Given the description of an element on the screen output the (x, y) to click on. 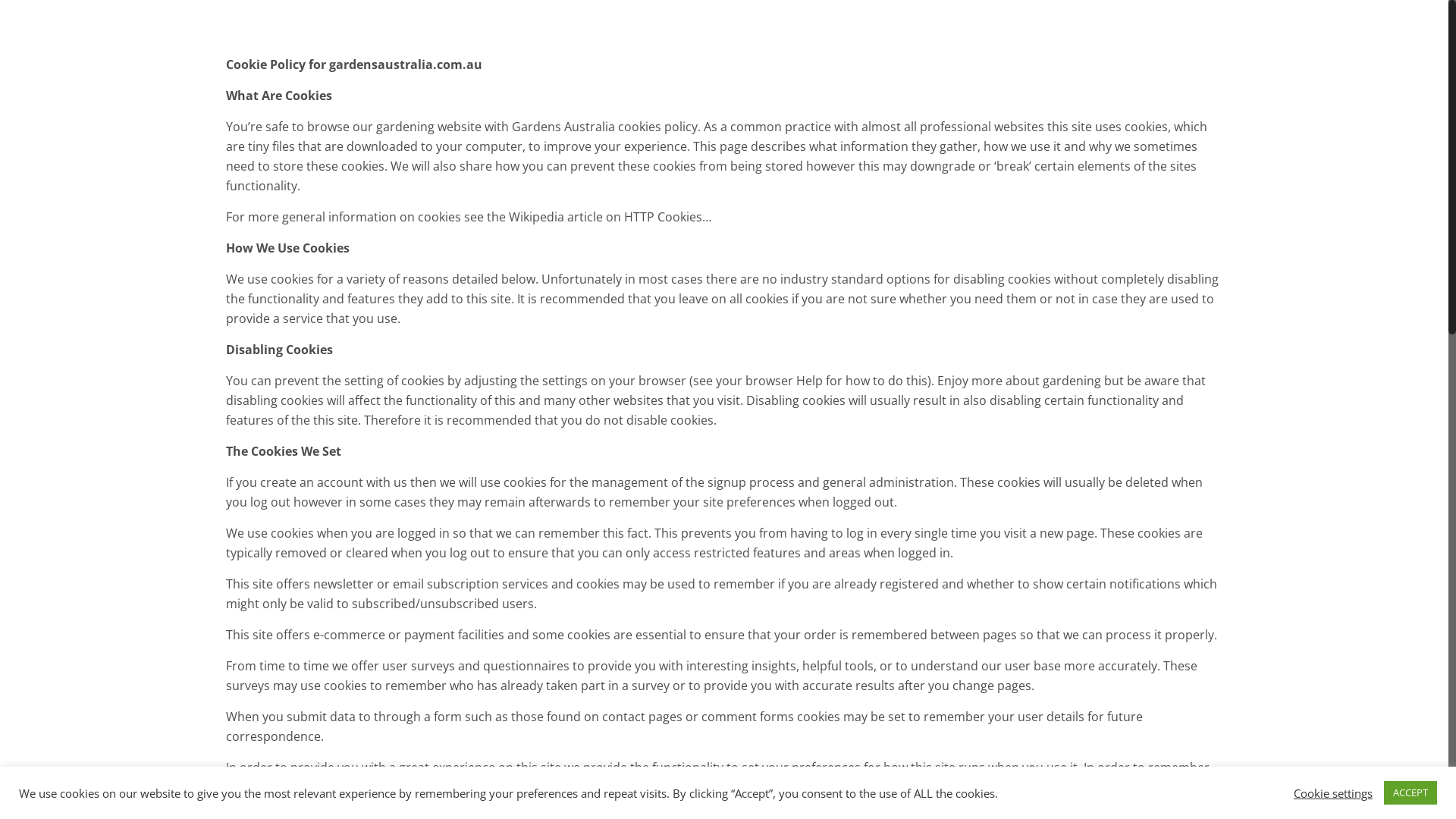
ACCEPT Element type: text (1410, 792)
Cookie settings Element type: text (1332, 792)
